Given the description of an element on the screen output the (x, y) to click on. 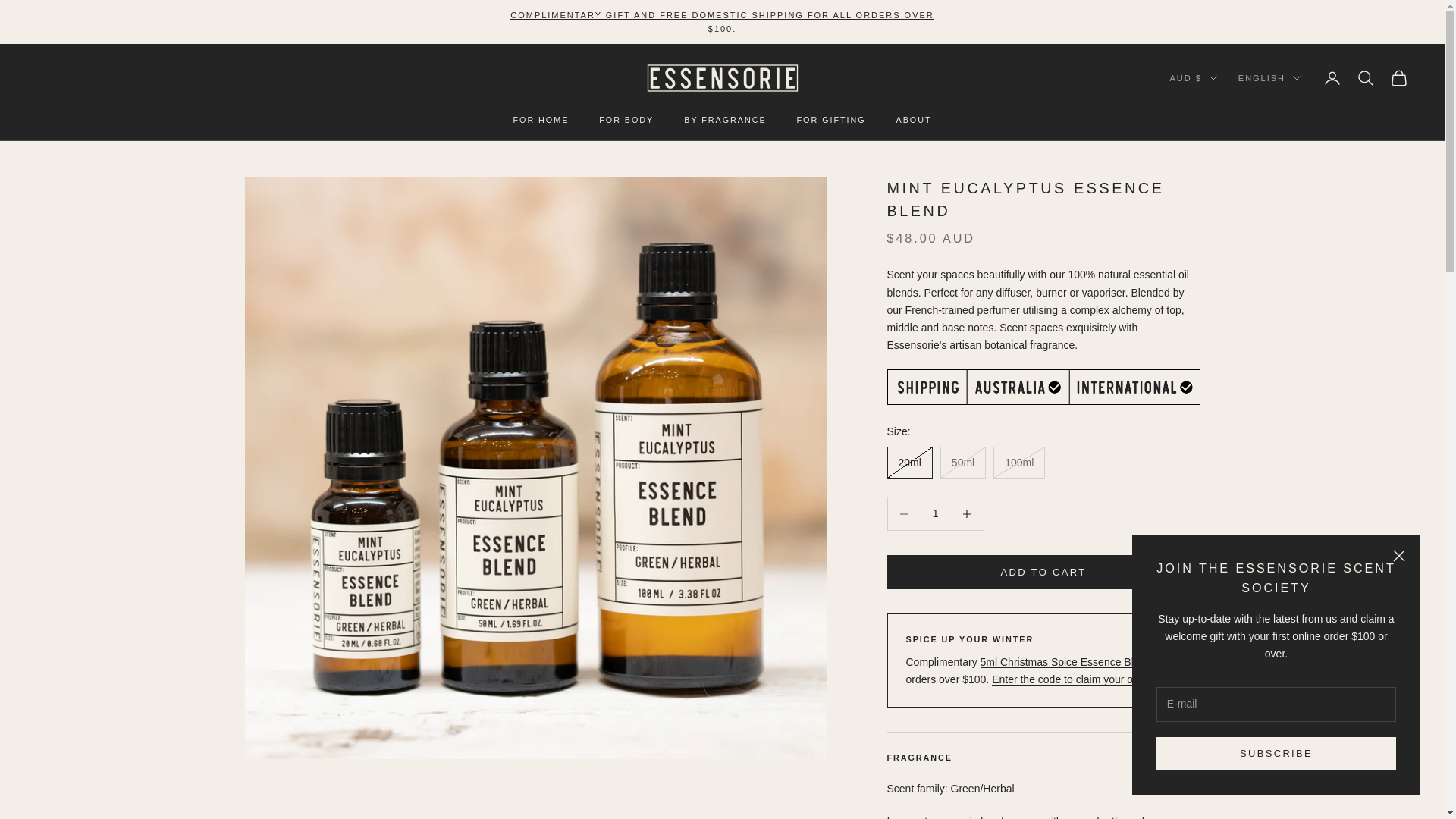
Essensorie Scent Society (1275, 577)
1 (935, 513)
Newsletter popup (1276, 664)
Spice Up Your Winter (1070, 679)
Essensorie (721, 77)
5ml Christmas Spice Essence Blend (1065, 662)
Spice Up Your Winter (722, 21)
